Given the description of an element on the screen output the (x, y) to click on. 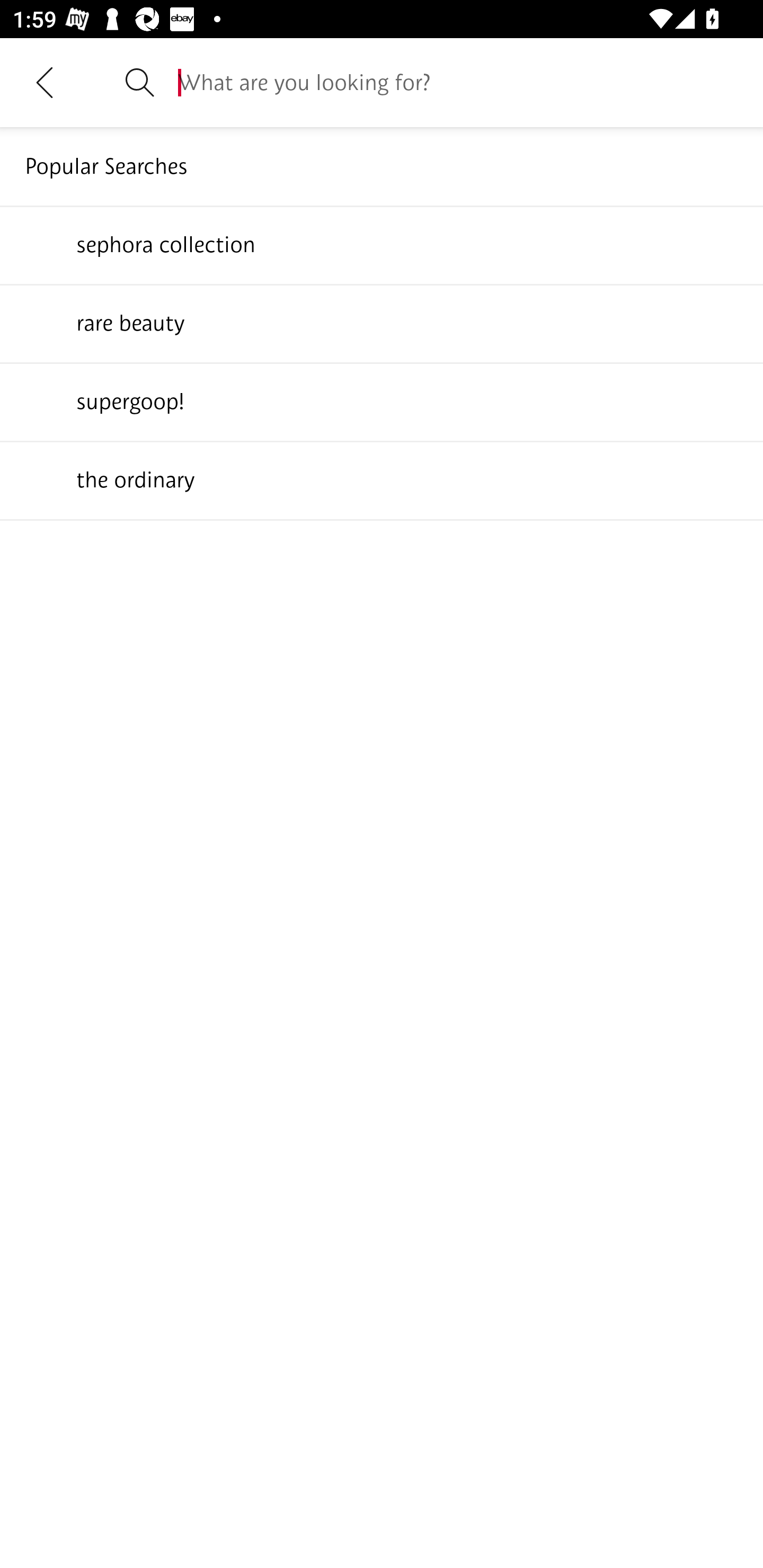
Navigate up (44, 82)
What are you looking for? (457, 82)
sephora collection (381, 244)
rare beauty (381, 322)
supergoop! (381, 401)
the ordinary (381, 479)
